Given the description of an element on the screen output the (x, y) to click on. 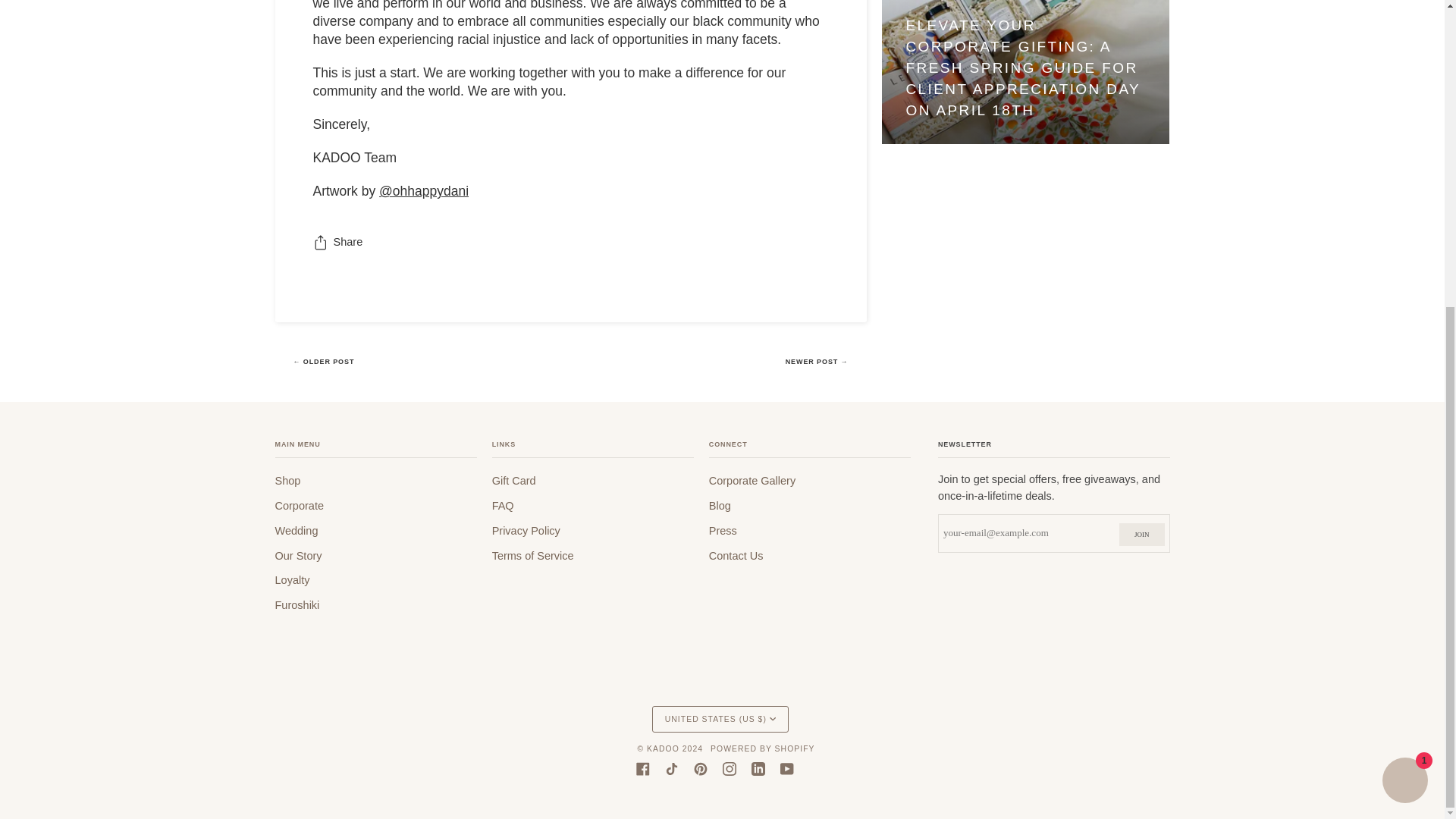
Tiktok (670, 768)
YouTube (785, 768)
Facebook (641, 768)
Instagram (728, 768)
Linkedin (757, 768)
KADOO Black Lives Matter artwrok credit by Oh Happy Dani  (423, 191)
Pinterest (699, 768)
